Given the description of an element on the screen output the (x, y) to click on. 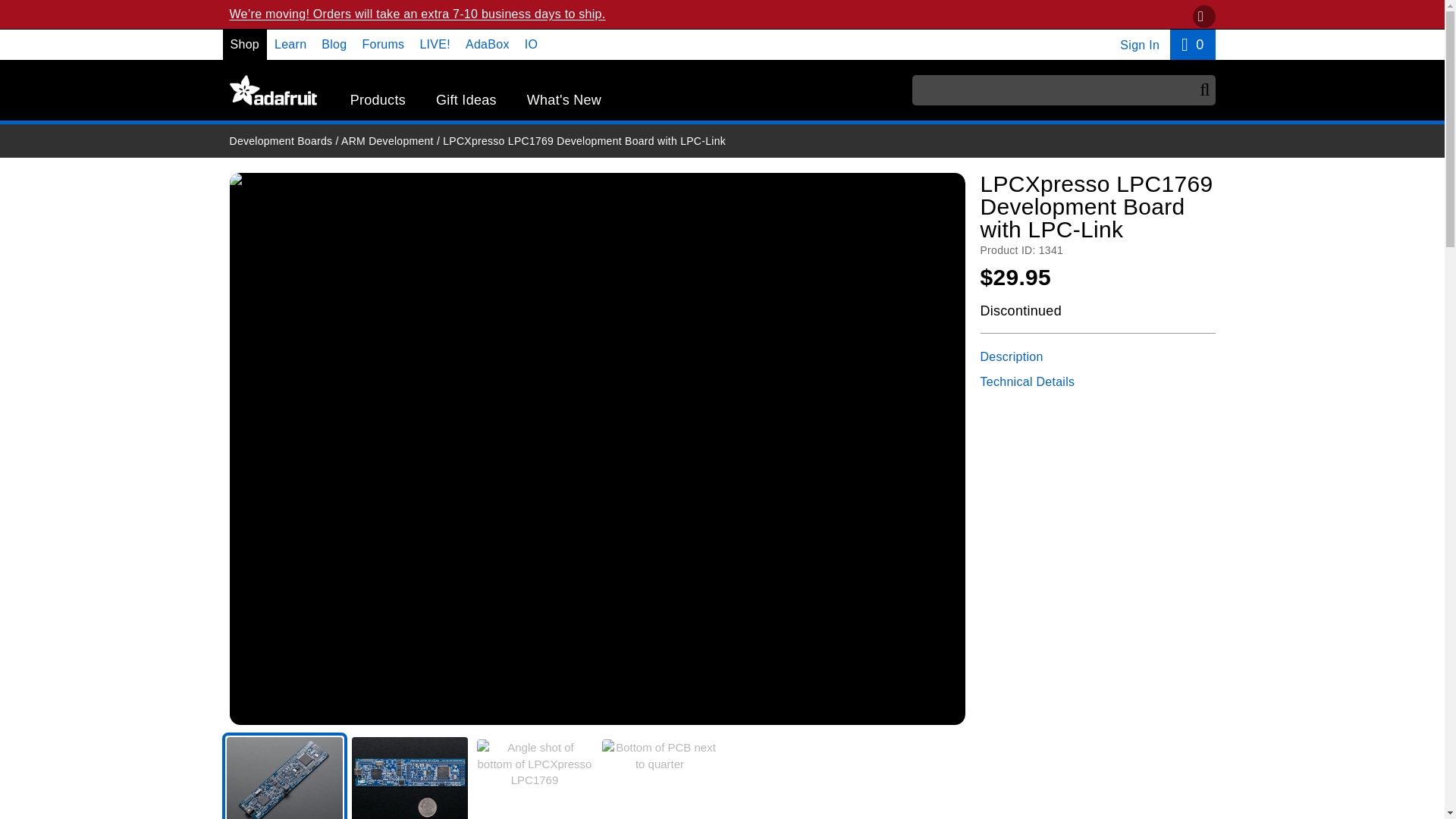
AdaBox (487, 43)
Adafruit (271, 90)
Sign In (1138, 44)
Forums (1192, 44)
LIVE! (382, 43)
Blog (434, 43)
IO (333, 43)
Shop (530, 43)
Products (245, 43)
Learn (378, 100)
